Given the description of an element on the screen output the (x, y) to click on. 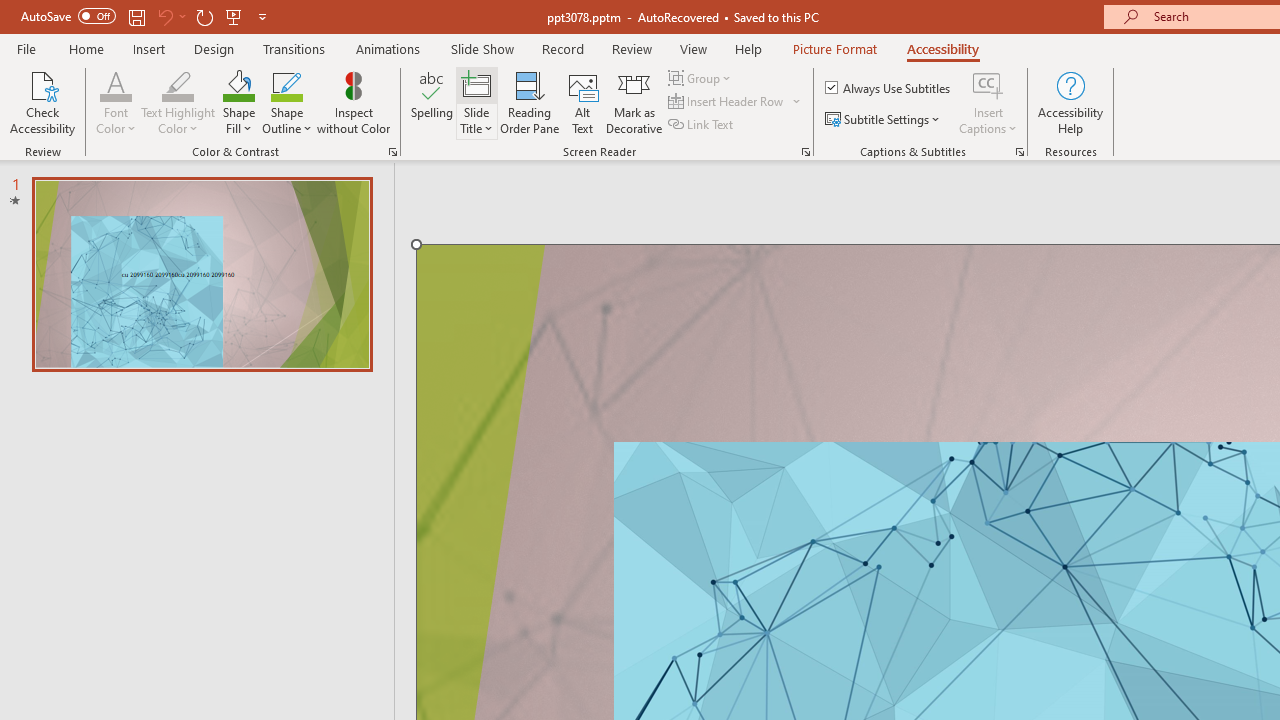
Always Use Subtitles (889, 87)
Picture Format (834, 48)
Color & Contrast (392, 151)
Inspect without Color (353, 102)
